Given the description of an element on the screen output the (x, y) to click on. 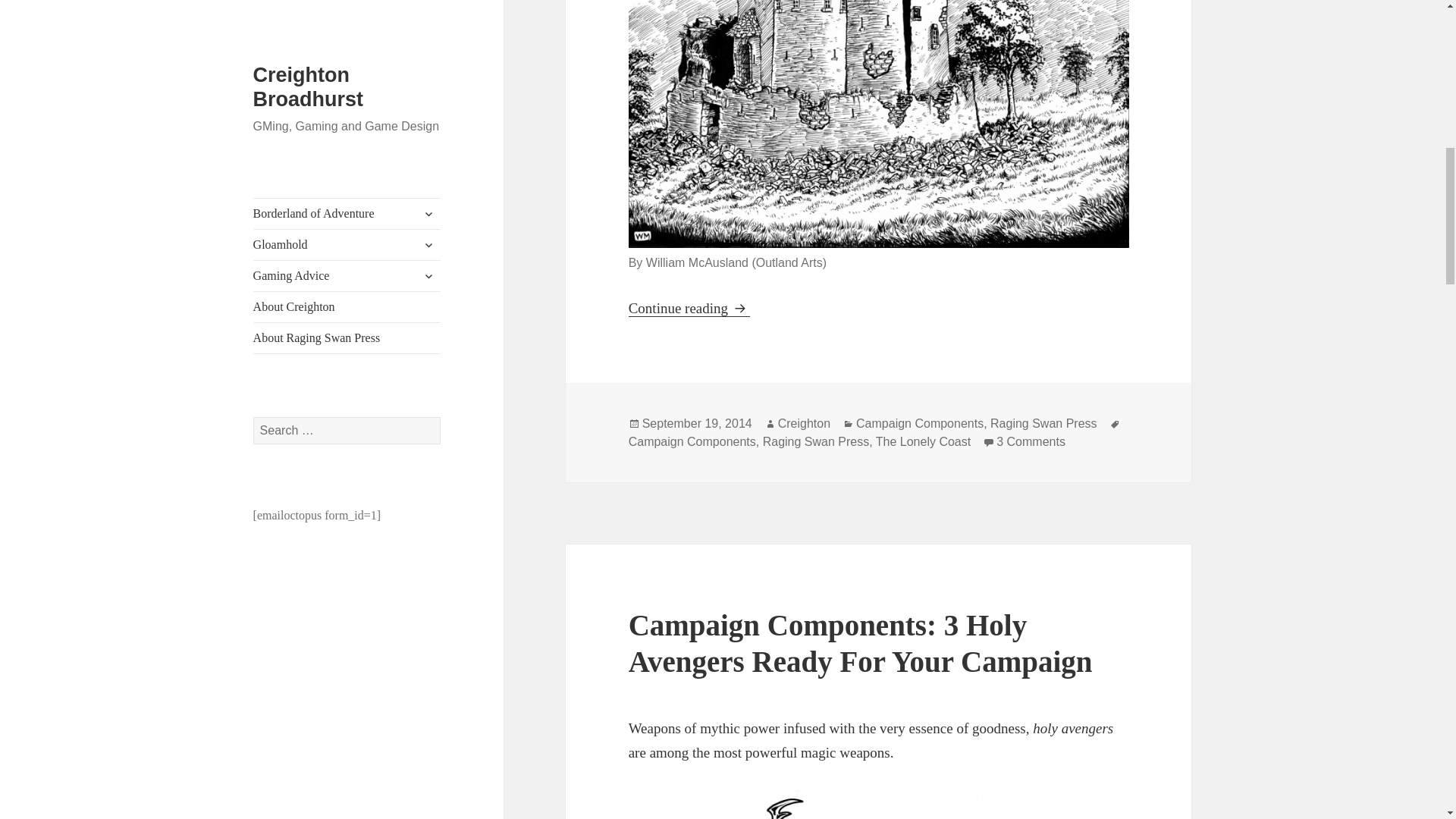
Campaign Components (920, 423)
Campaign Components: 3 Holy Avengers Ready For Your Campaign (860, 643)
Campaign Components (691, 441)
Creighton (803, 423)
Raging Swan Press (815, 441)
September 19, 2014 (697, 423)
Raging Swan Press (1043, 423)
The Lonely Coast (923, 441)
